Given the description of an element on the screen output the (x, y) to click on. 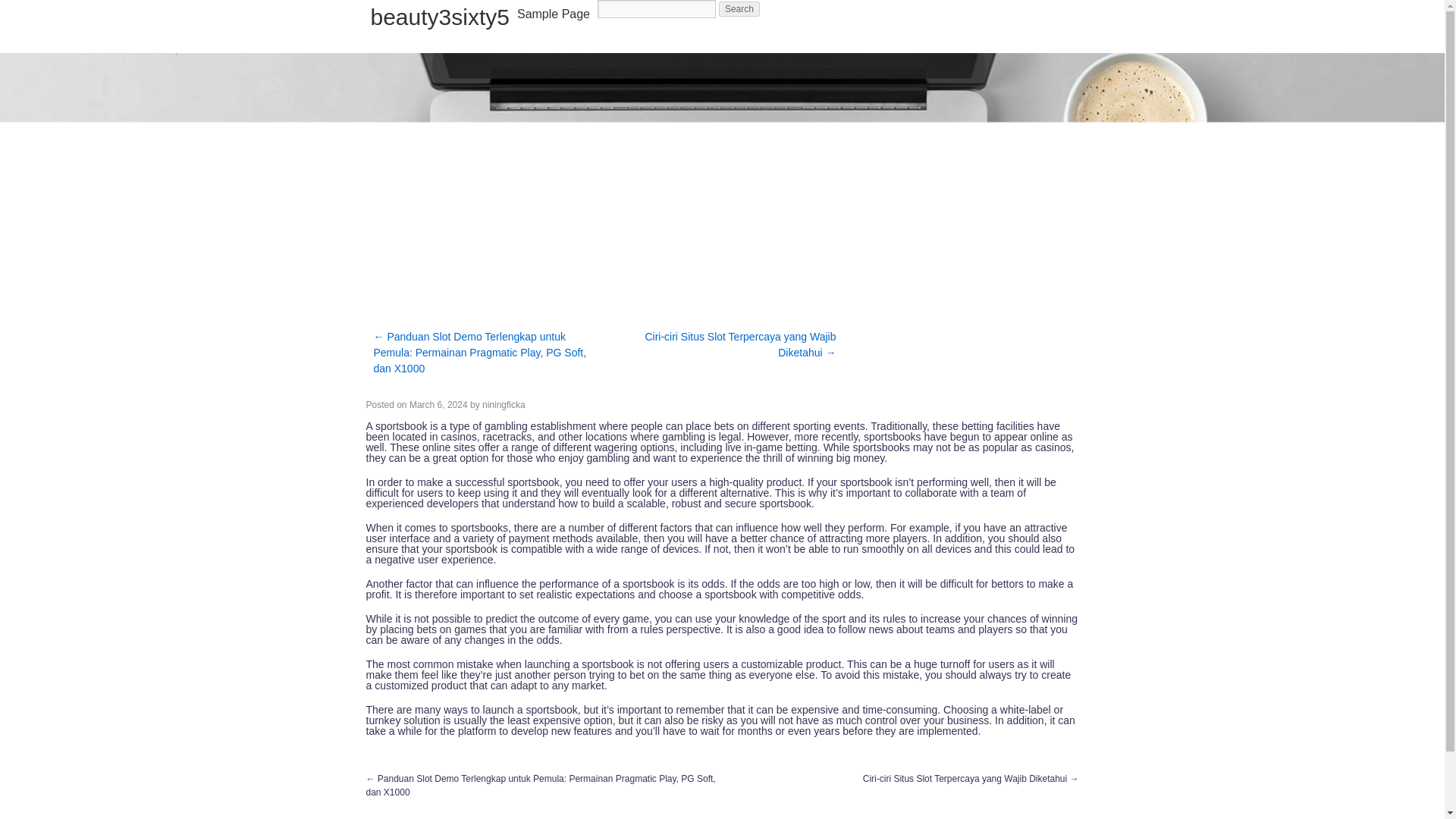
beauty3sixty5 (438, 16)
niningficka (503, 404)
7:23 pm (438, 404)
Search (739, 8)
March 6, 2024 (438, 404)
Sample Page (552, 14)
Search (739, 8)
View all posts by niningficka (503, 404)
